Given the description of an element on the screen output the (x, y) to click on. 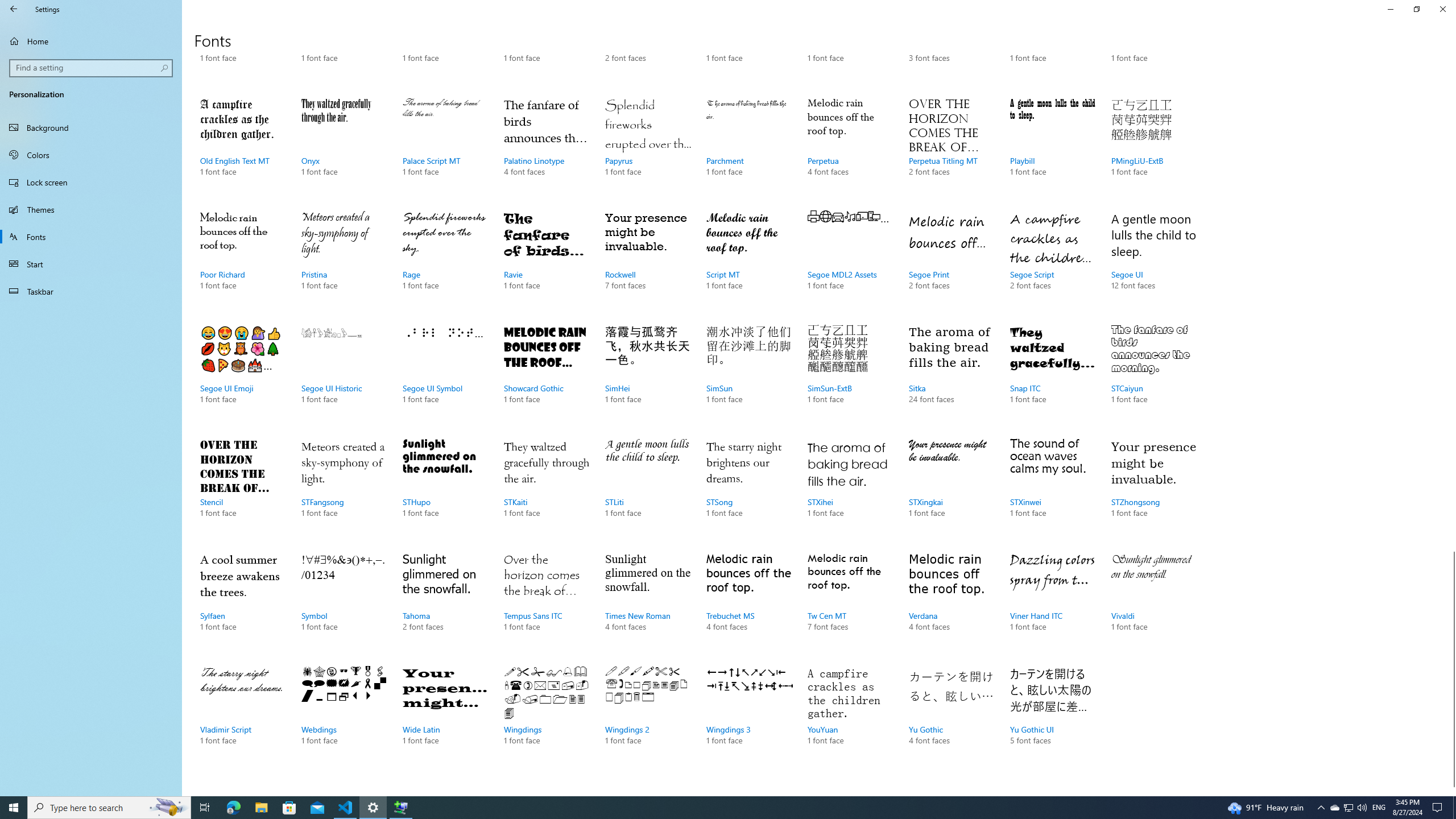
Onyx, 1 font face (343, 148)
MS Reference Specialty, 1 font face (243, 45)
Minimize Settings (1390, 9)
Back (13, 9)
Rockwell, 7 font faces (647, 262)
Wingdings 2, 1 font face (647, 716)
STLiti, 1 font face (647, 489)
Niagara Solid, 1 font face (1347, 807)
Vladimir Script, 1 font face (850, 45)
Notification Chevron (243, 716)
Yu Gothic, 4 font faces (1320, 807)
Extensible Wizards Host Process - 1 running window (951, 716)
Segoe UI, 12 font faces (400, 807)
